Given the description of an element on the screen output the (x, y) to click on. 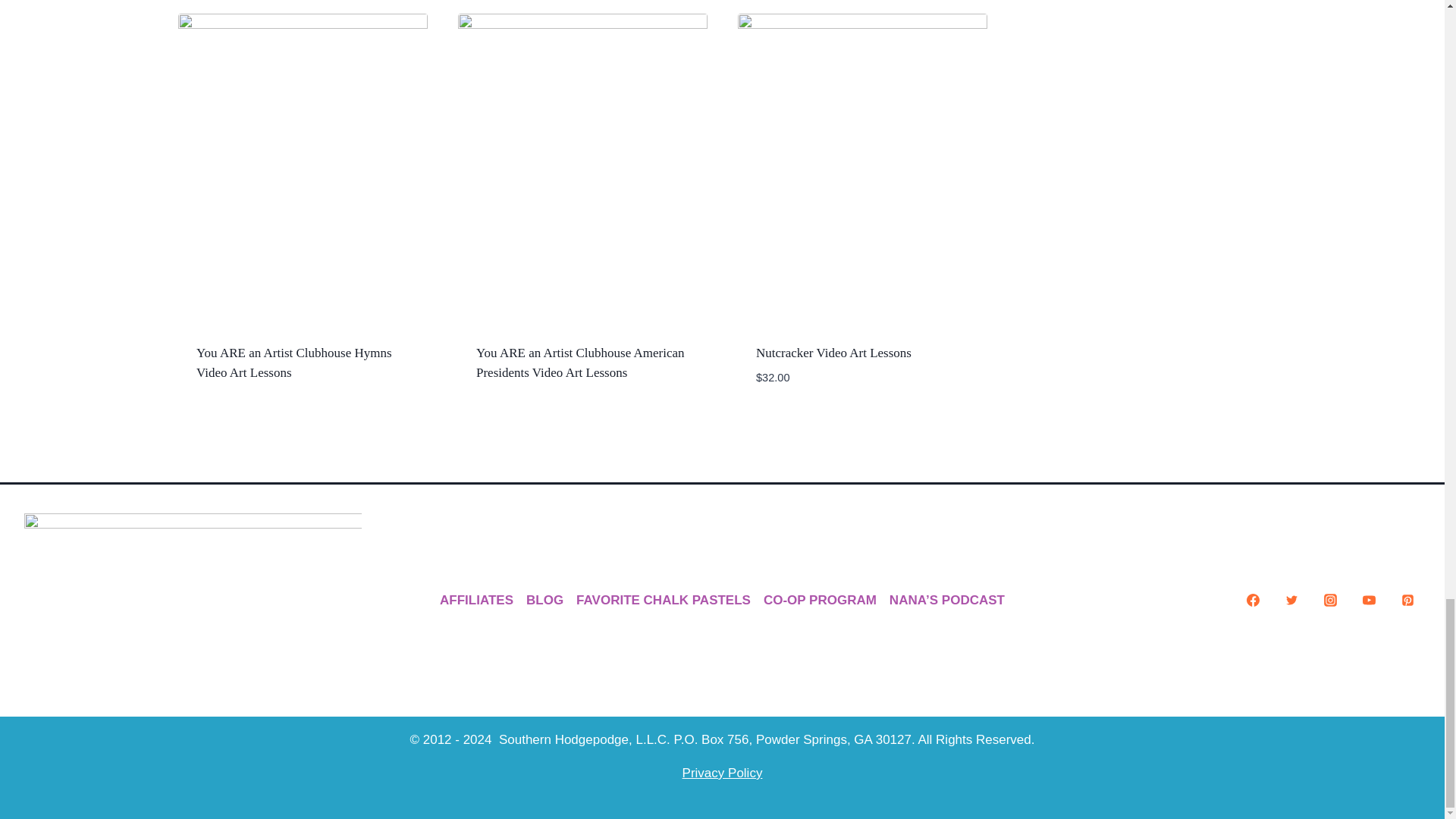
Nutcracker Video Art Lessons (833, 352)
FAVORITE CHALK PASTELS (663, 600)
CO-OP PROGRAM (819, 600)
BLOG (544, 600)
AFFILIATES (476, 600)
You ARE an Artist Clubhouse Hymns Video Art Lessons (293, 362)
